Given the description of an element on the screen output the (x, y) to click on. 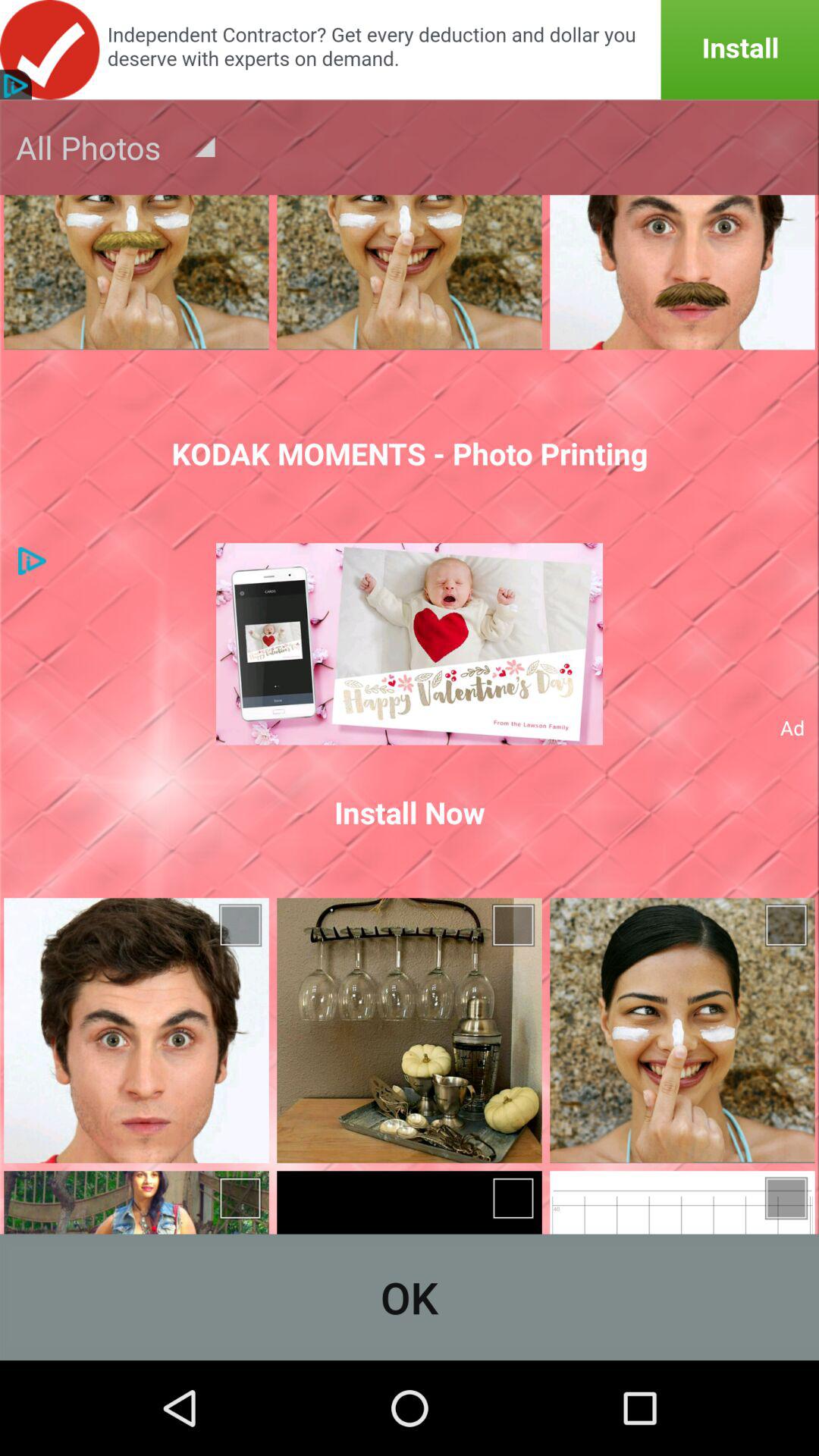
scroll until the kodak moments photo item (409, 453)
